Given the description of an element on the screen output the (x, y) to click on. 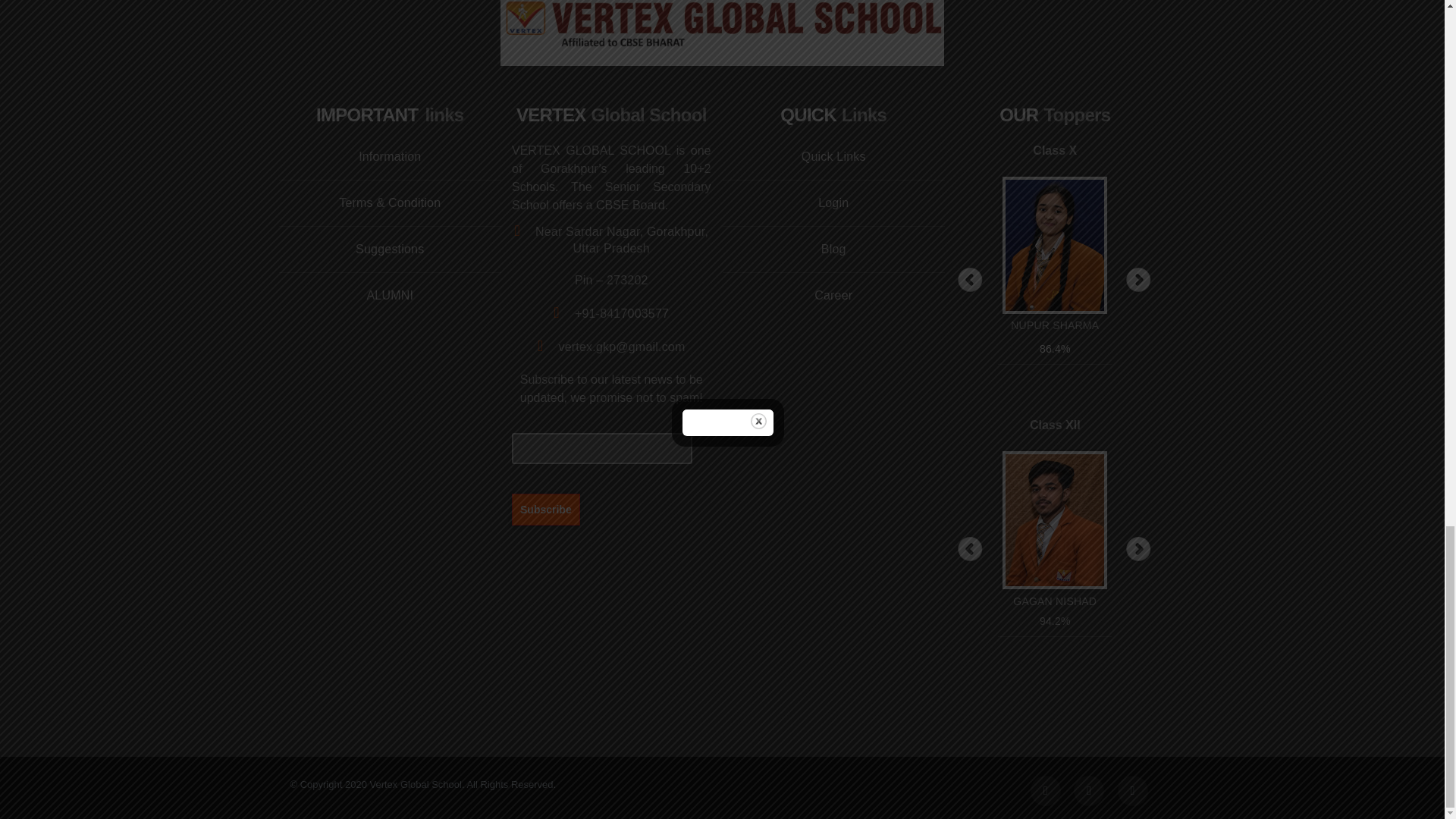
Subscribe (545, 508)
